Given the description of an element on the screen output the (x, y) to click on. 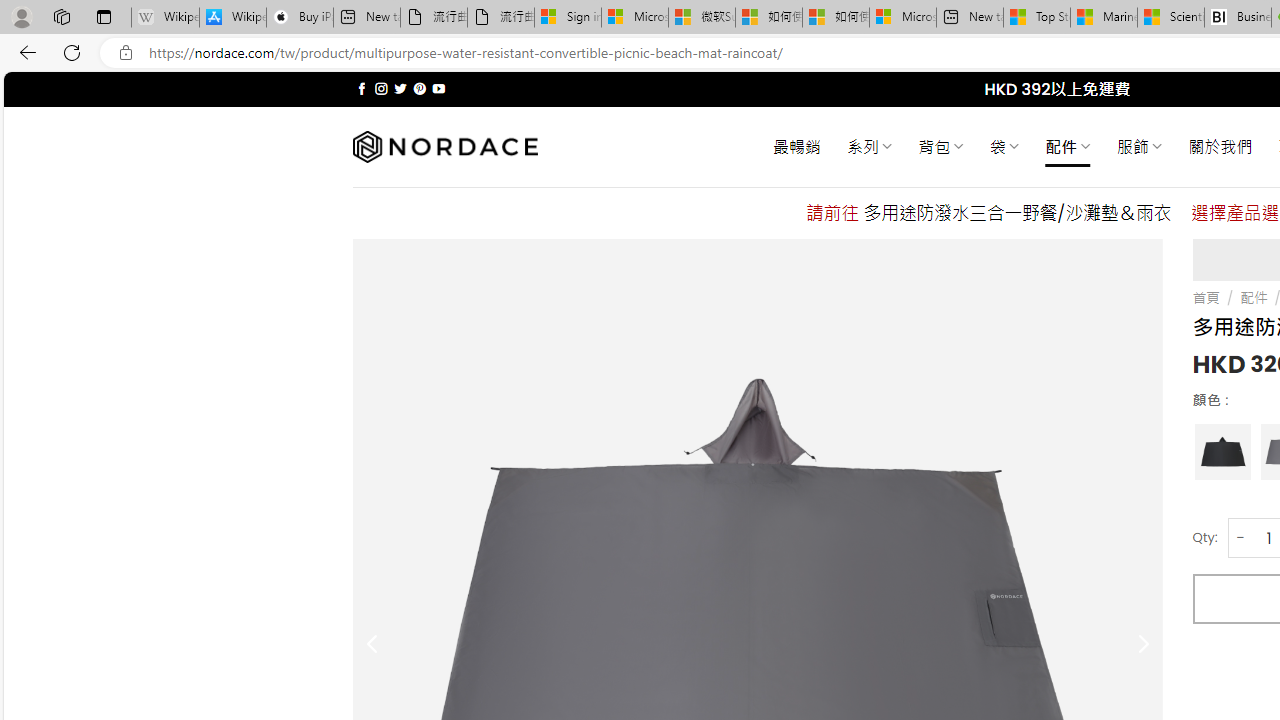
Follow on Instagram (381, 88)
